Given the description of an element on the screen output the (x, y) to click on. 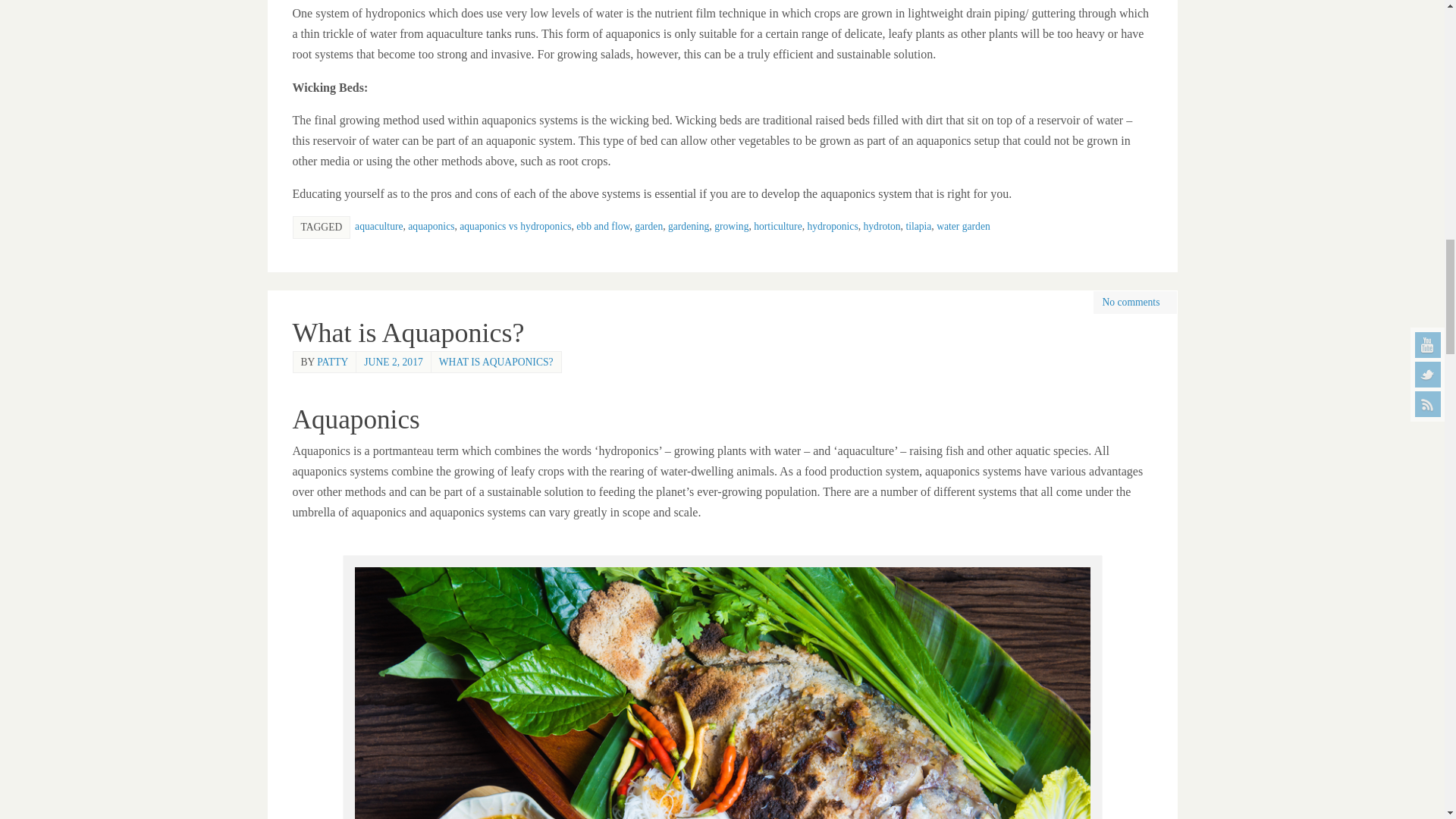
PATTY (332, 361)
water garden (963, 225)
aquaponics (430, 225)
growing (731, 225)
ebb and flow (602, 225)
hydroponics (831, 225)
JUNE 2, 2017 (393, 361)
WHAT IS AQUAPONICS? (496, 361)
hydroton (881, 225)
No comments (1131, 301)
